Given the description of an element on the screen output the (x, y) to click on. 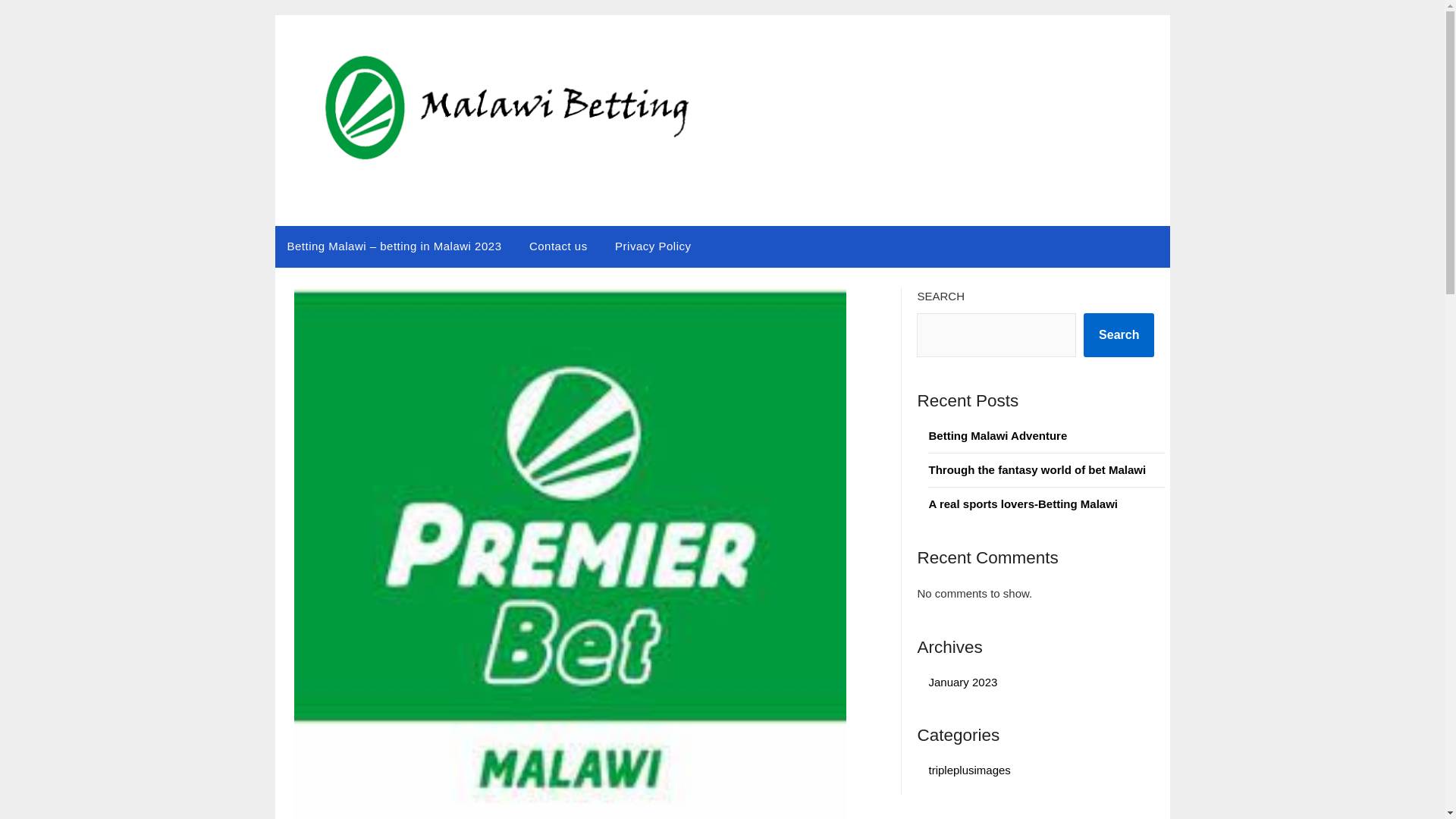
Through the fantasy world of bet Malawi (1036, 469)
Privacy Policy (652, 246)
tripleplusimages (969, 769)
Contact us (557, 246)
January 2023 (962, 681)
Search (1118, 334)
Betting Malawi Adventure  (999, 435)
A real sports lovers-Betting Malawi (1023, 503)
